Given the description of an element on the screen output the (x, y) to click on. 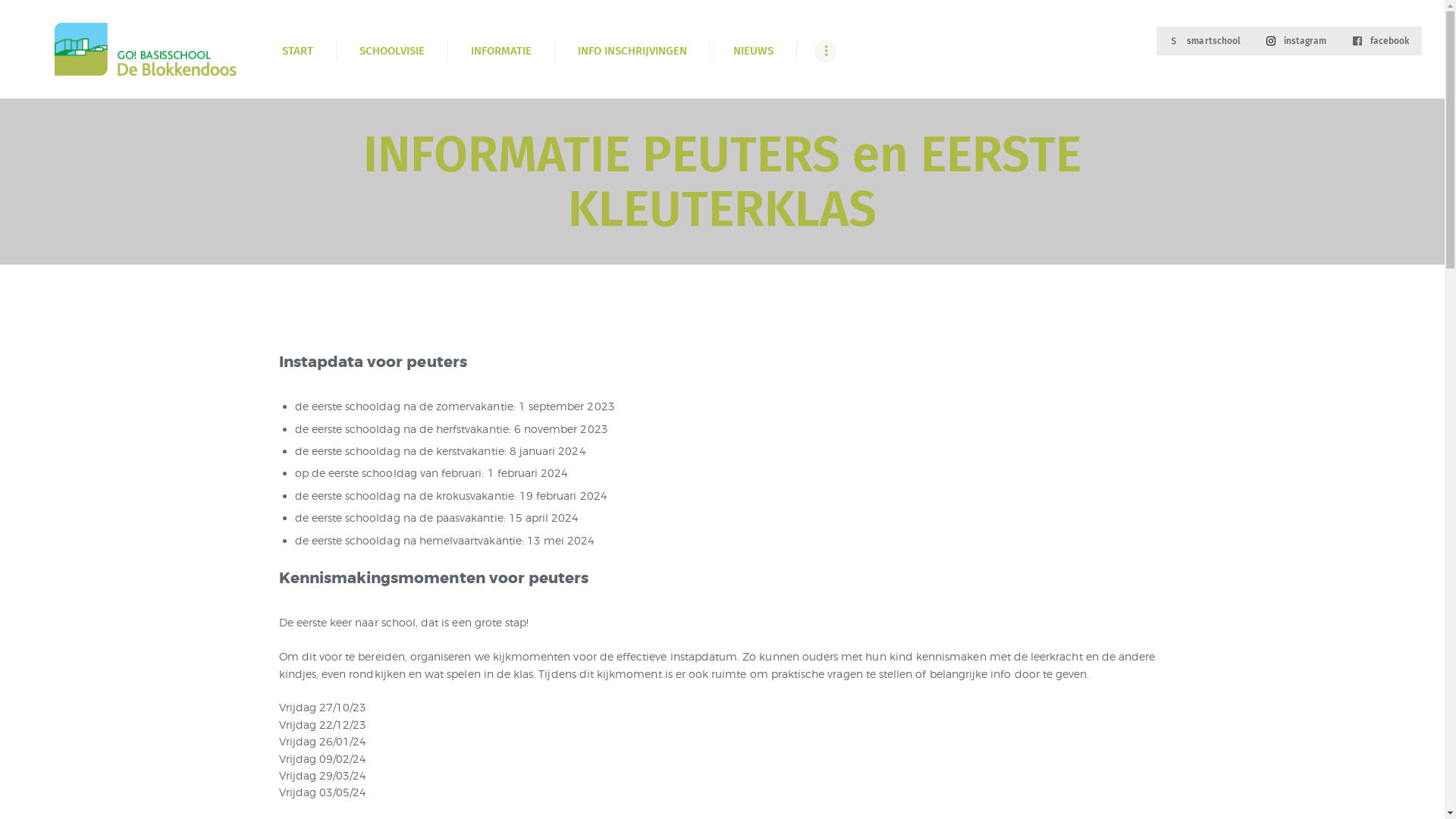
smartschool Element type: text (1204, 40)
INFO INSCHRIJVINGEN Element type: text (631, 50)
instagram Element type: text (1296, 40)
NIEUWS Element type: text (752, 50)
facebook Element type: text (1380, 40)
SCHOOLVISIE Element type: text (391, 50)
INFORMATIE Element type: text (500, 50)
START Element type: text (297, 50)
